Given the description of an element on the screen output the (x, y) to click on. 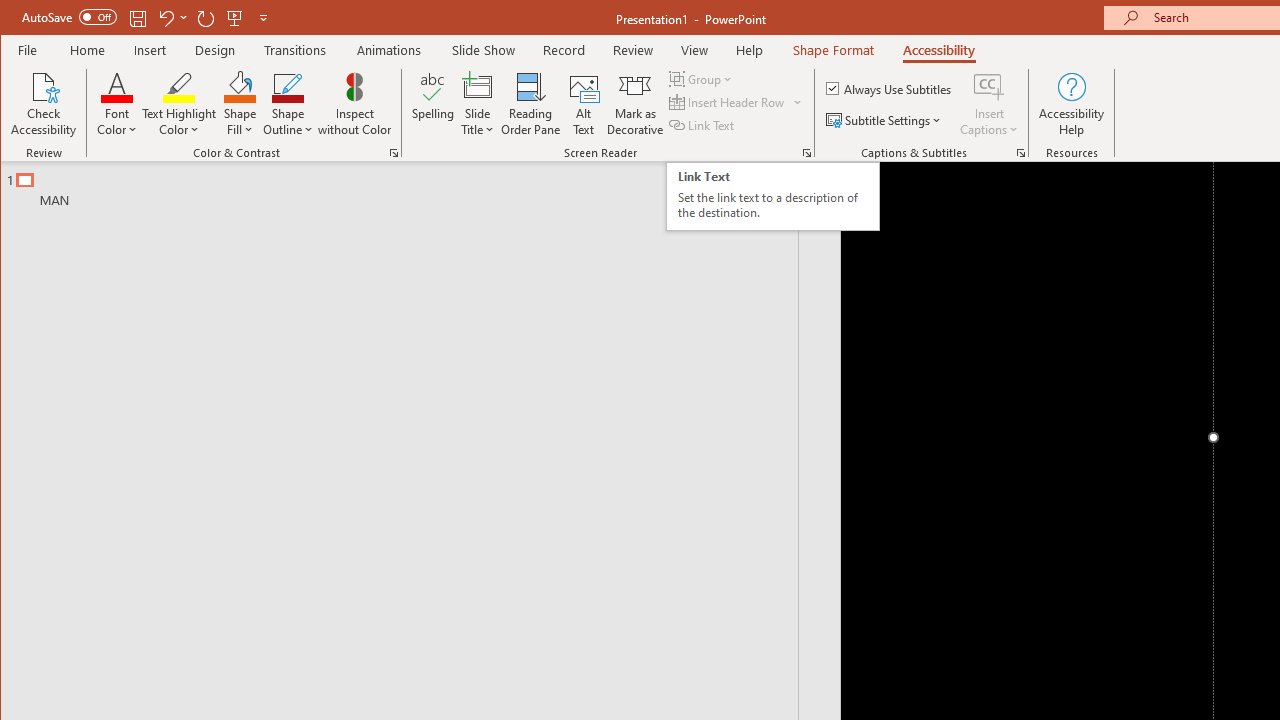
Color & Contrast (393, 152)
Mark as Decorative (635, 104)
Subtitle Settings (885, 119)
